Given the description of an element on the screen output the (x, y) to click on. 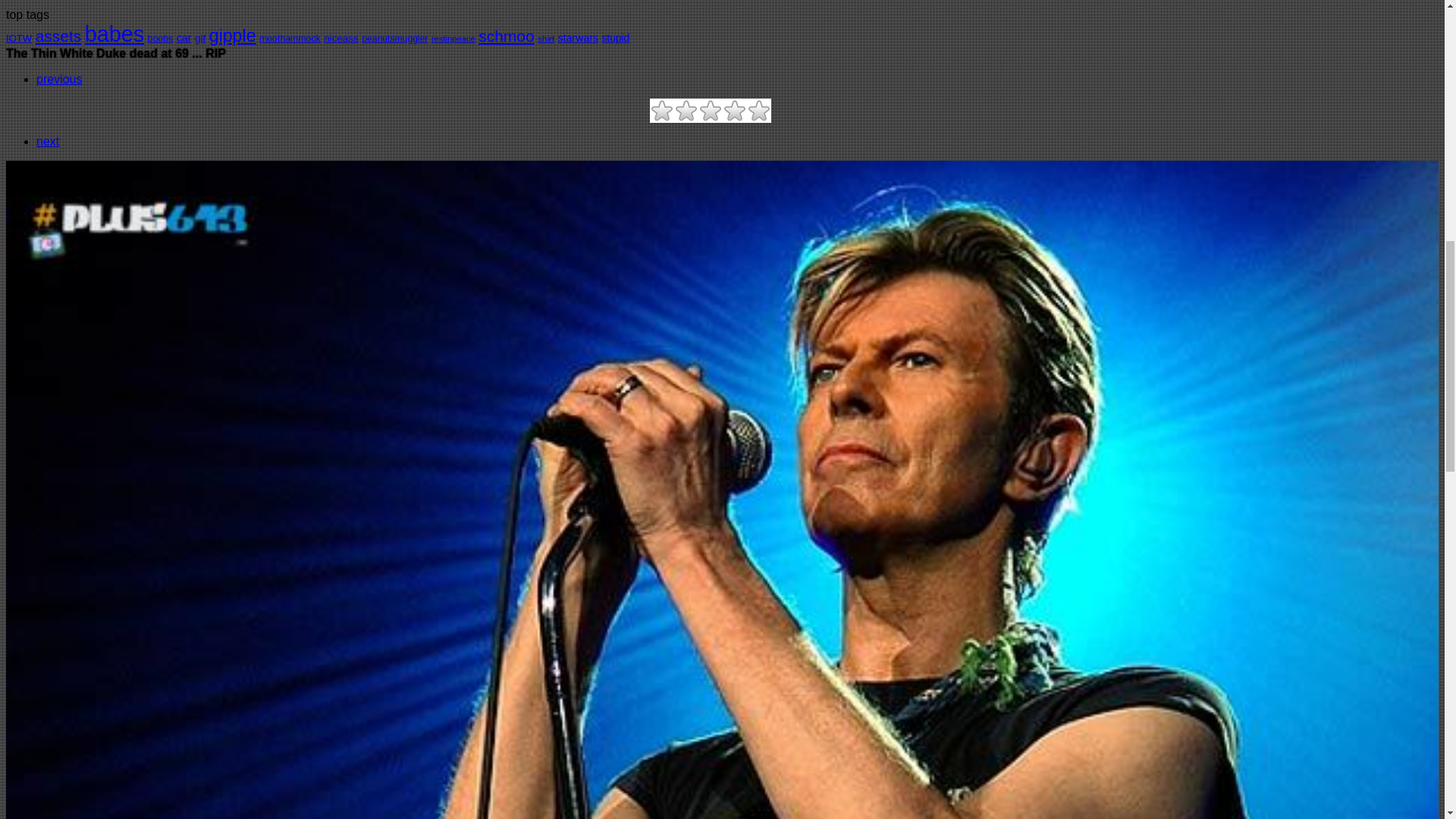
375 images tagged with babes (114, 33)
peanutsmuggler (394, 38)
169 images tagged with gif (200, 38)
152 images tagged with moothammock (289, 38)
gipple (232, 35)
166 images tagged with niceass (340, 38)
163 images tagged with IOTW (18, 38)
145 images tagged with shirt (545, 38)
299 images tagged with gipple (232, 35)
gif (200, 38)
moothammock (289, 38)
151 images tagged with boobs (160, 38)
269 images tagged with schmoo (506, 36)
babes (114, 33)
170 images tagged with stupid (614, 38)
